Given the description of an element on the screen output the (x, y) to click on. 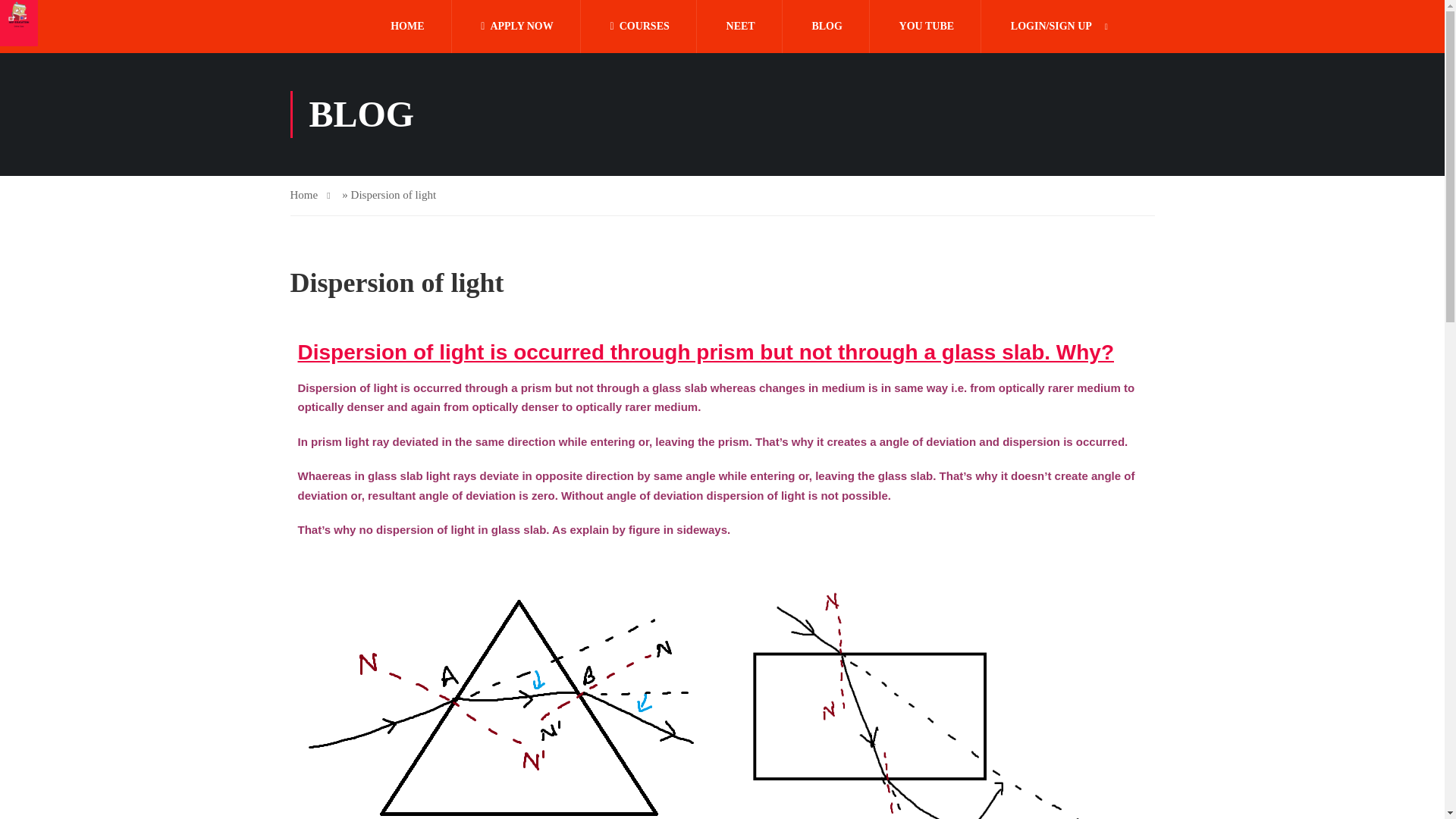
Home (309, 195)
BLOG (826, 26)
APPLY NOW (516, 26)
YOU TUBE (926, 26)
COURSES (639, 26)
NEET (740, 26)
HOME (406, 26)
